Given the description of an element on the screen output the (x, y) to click on. 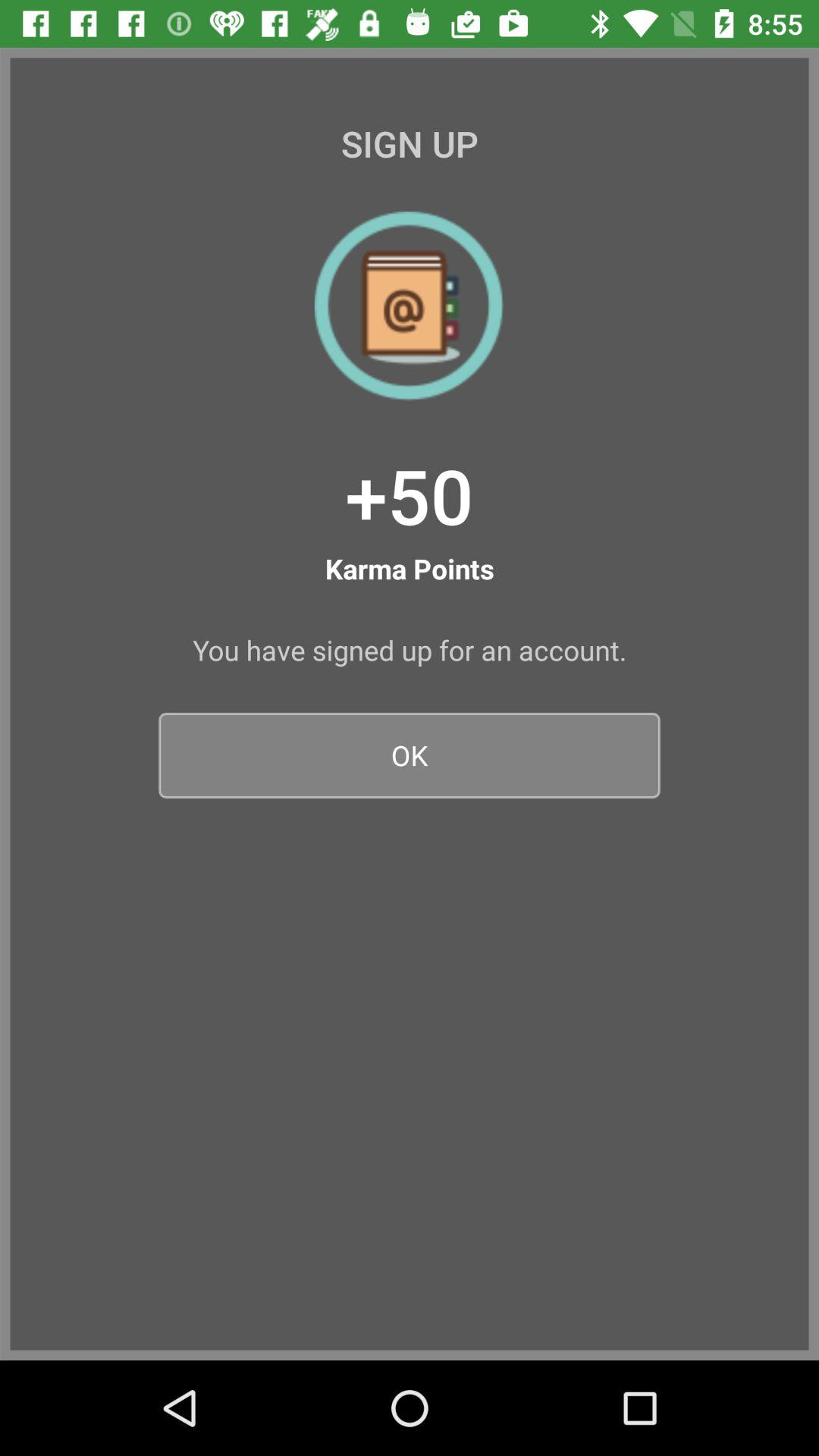
tap ok icon (409, 755)
